Given the description of an element on the screen output the (x, y) to click on. 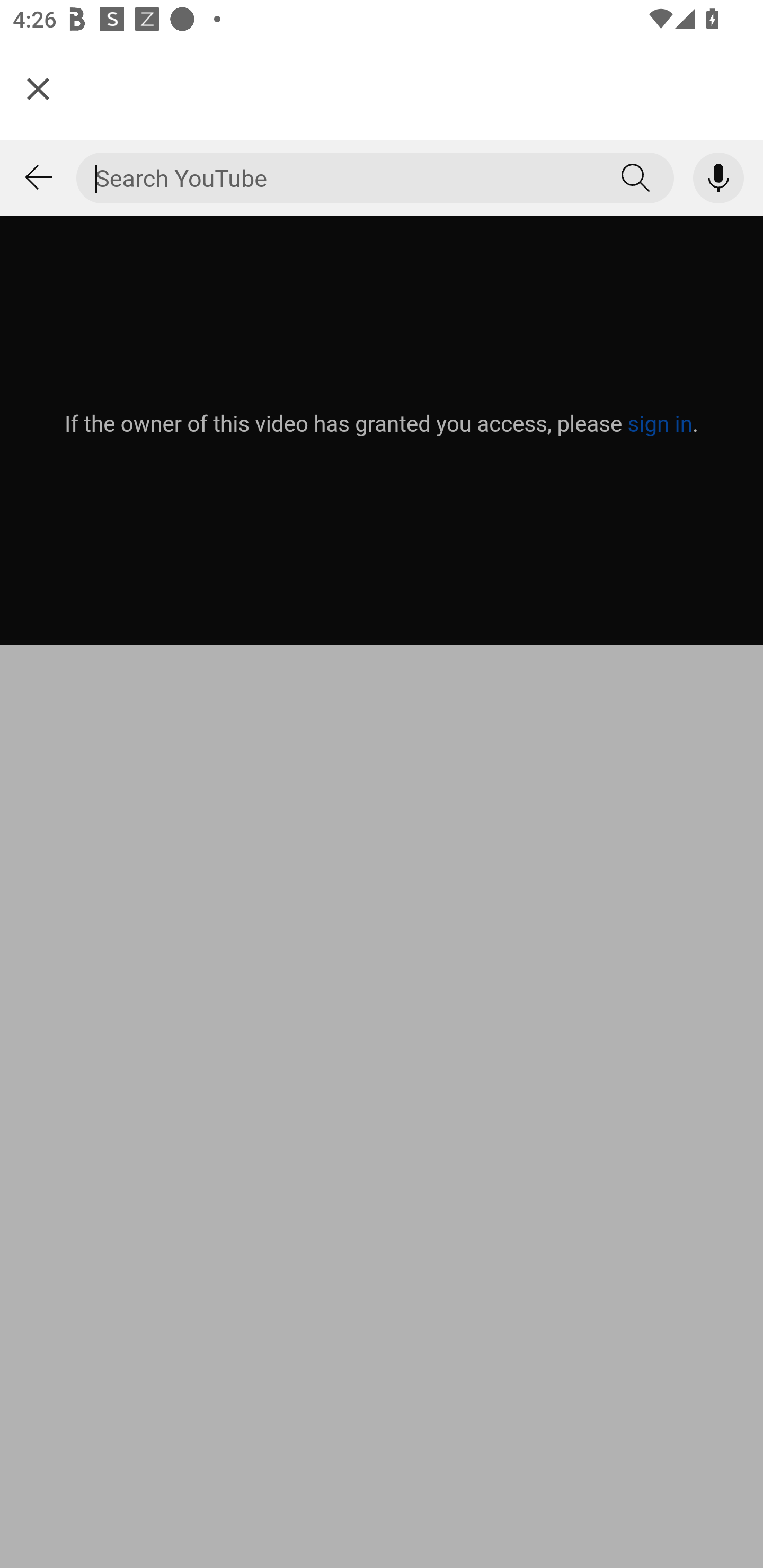
Close (38, 88)
Close search (38, 177)
Search YouTube (635, 177)
Search with your voice (718, 177)
